Given the description of an element on the screen output the (x, y) to click on. 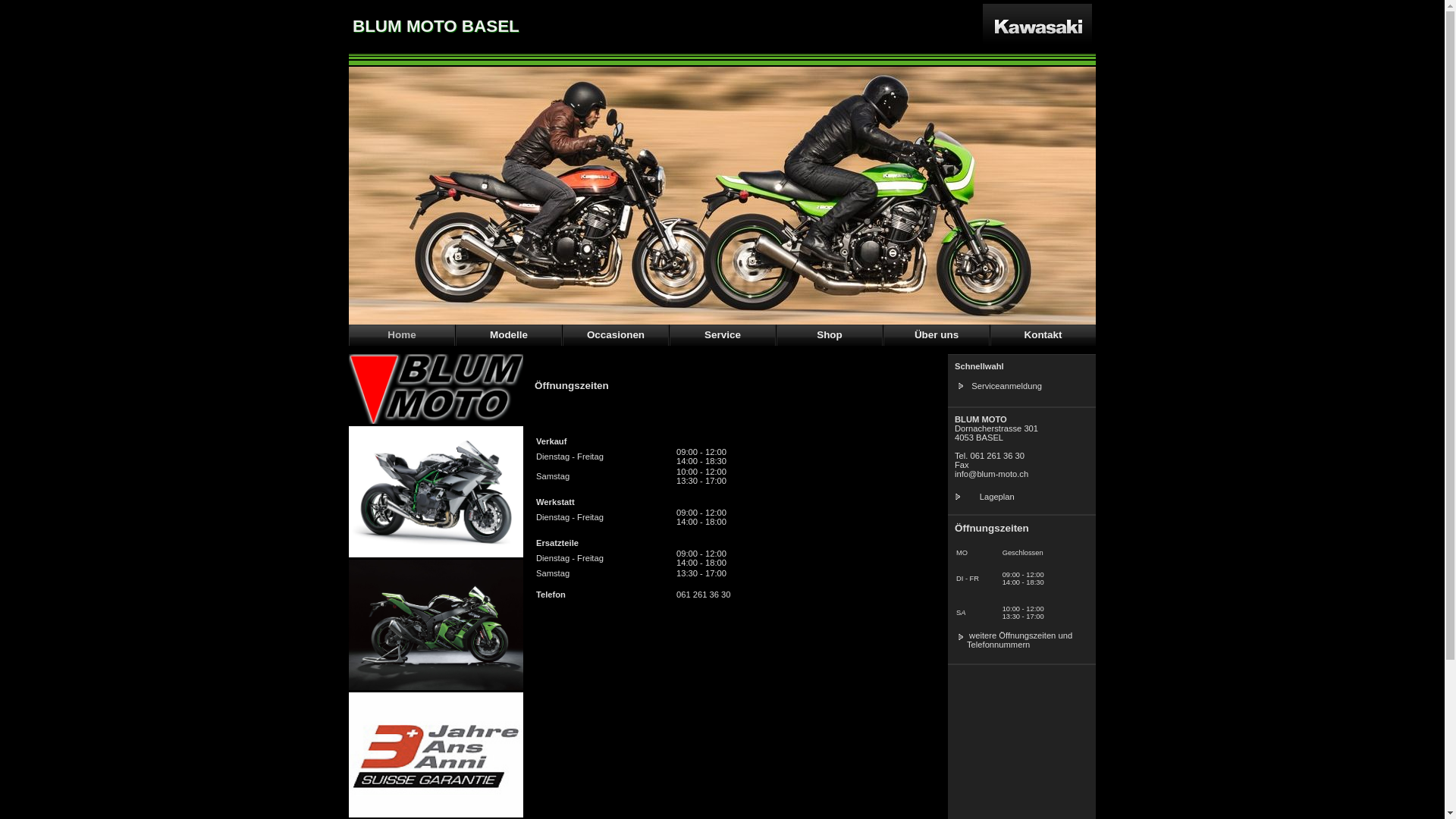
Home Element type: text (401, 334)
Modelle Element type: text (508, 334)
Shop Element type: text (829, 334)
3 Jahre Suisse Garantie Element type: hover (435, 754)
Kontakt Element type: text (1042, 334)
Blum Moto Basel Element type: hover (435, 388)
Service Element type: text (722, 334)
Kawasaki News Element type: hover (435, 624)
info@blum-moto.ch Element type: text (991, 473)
Occasionen Element type: text (615, 334)
Modellangebot Element type: hover (435, 556)
Modellangebot Element type: hover (435, 491)
Blum Moto Basel Element type: hover (435, 422)
 Lageplan Element type: text (995, 496)
Kawasaki News Element type: hover (435, 688)
 Serviceanmeldung Element type: text (1005, 385)
